Given the description of an element on the screen output the (x, y) to click on. 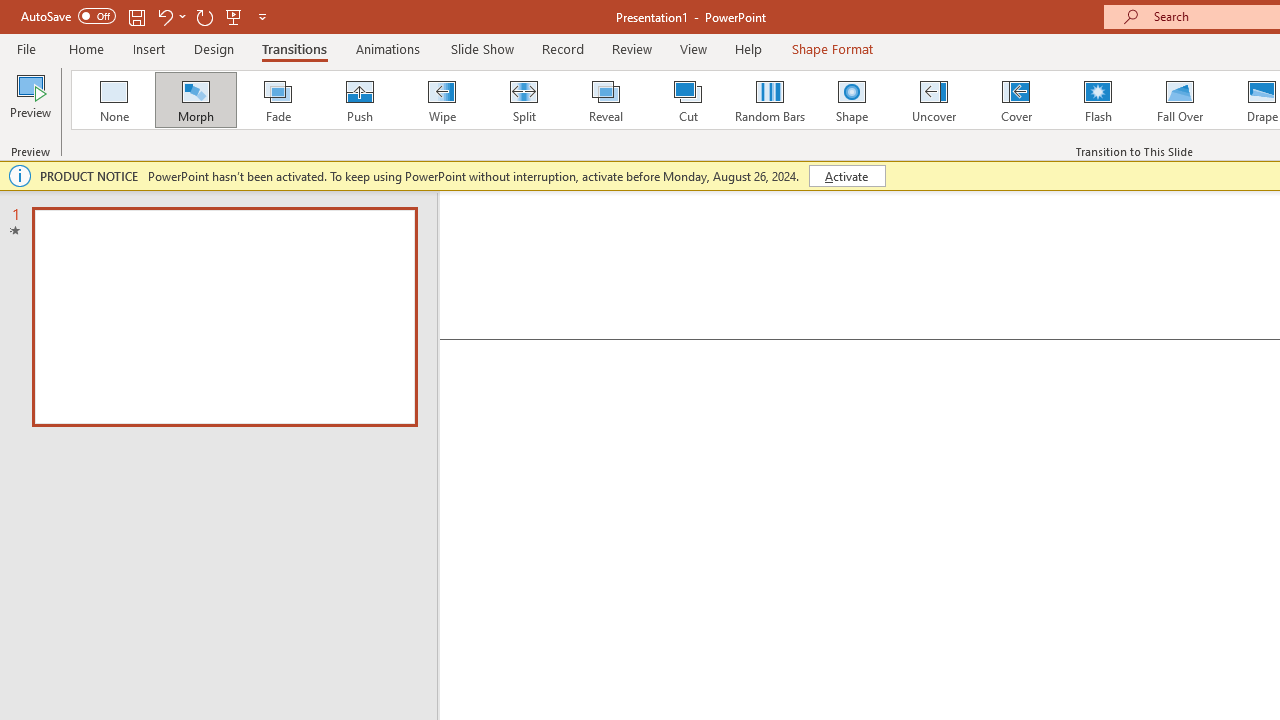
Activate (846, 175)
